Given the description of an element on the screen output the (x, y) to click on. 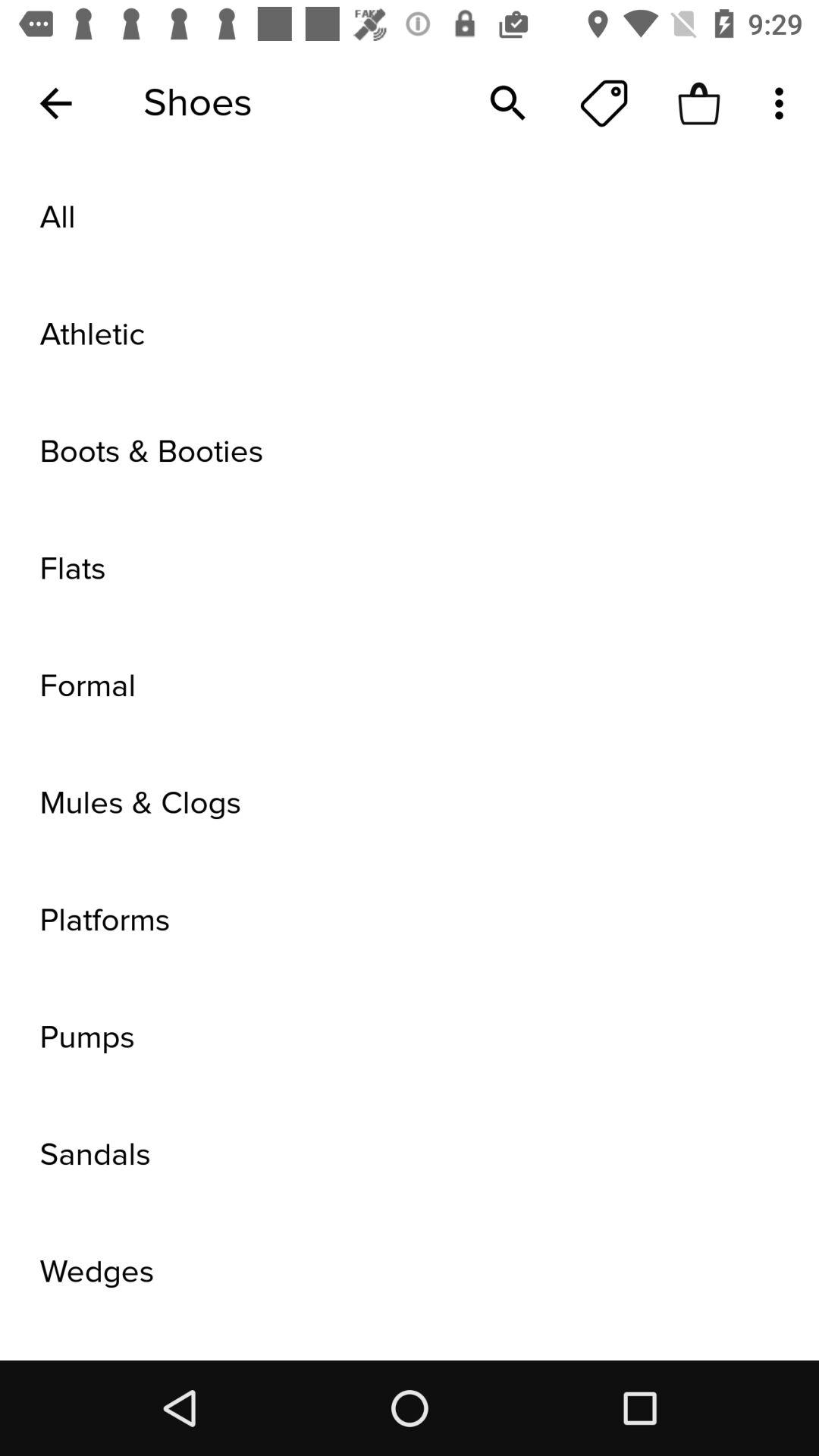
jump until the flats (409, 568)
